Given the description of an element on the screen output the (x, y) to click on. 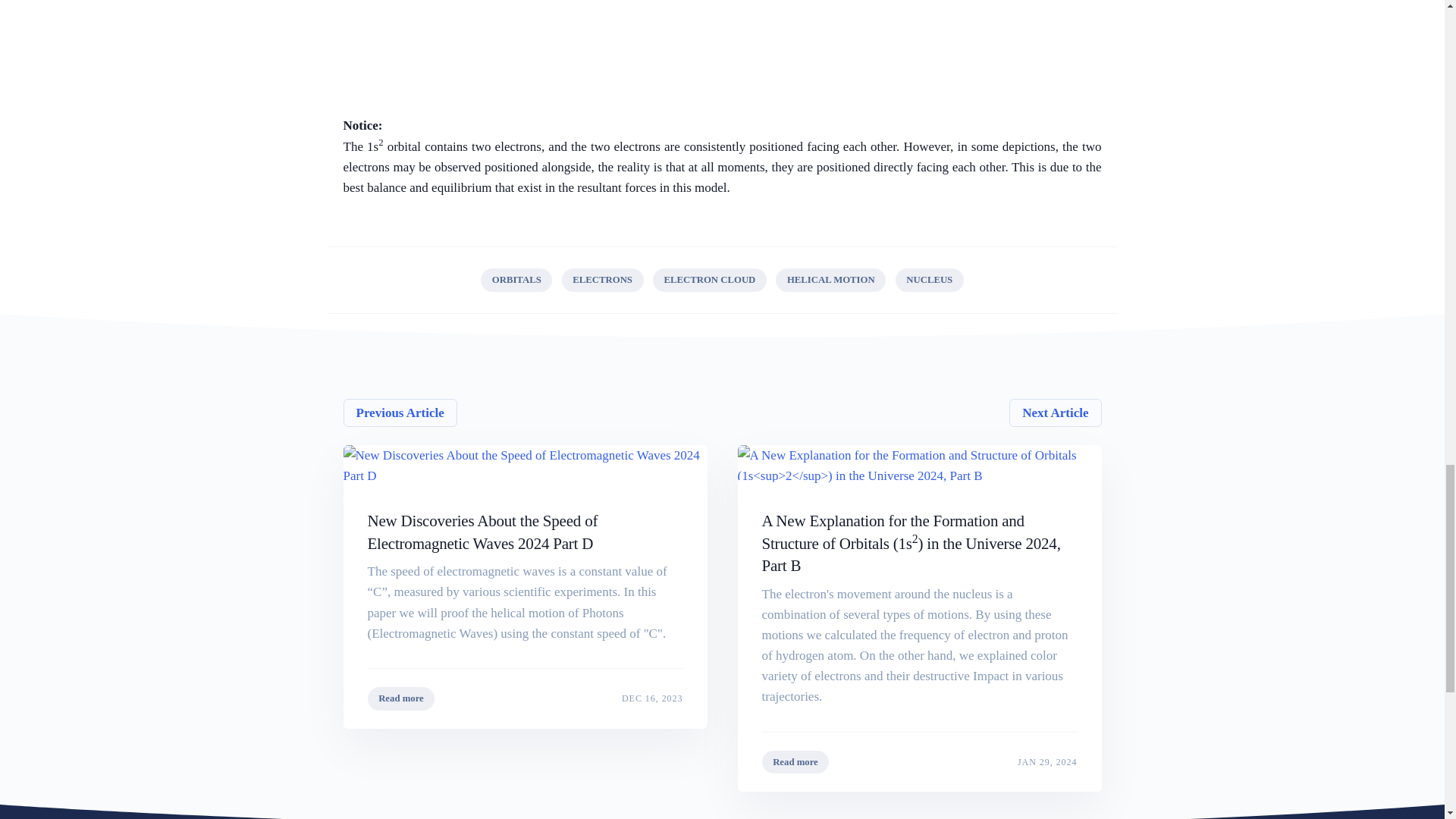
Next Article (918, 762)
Previous Article (524, 698)
